Given the description of an element on the screen output the (x, y) to click on. 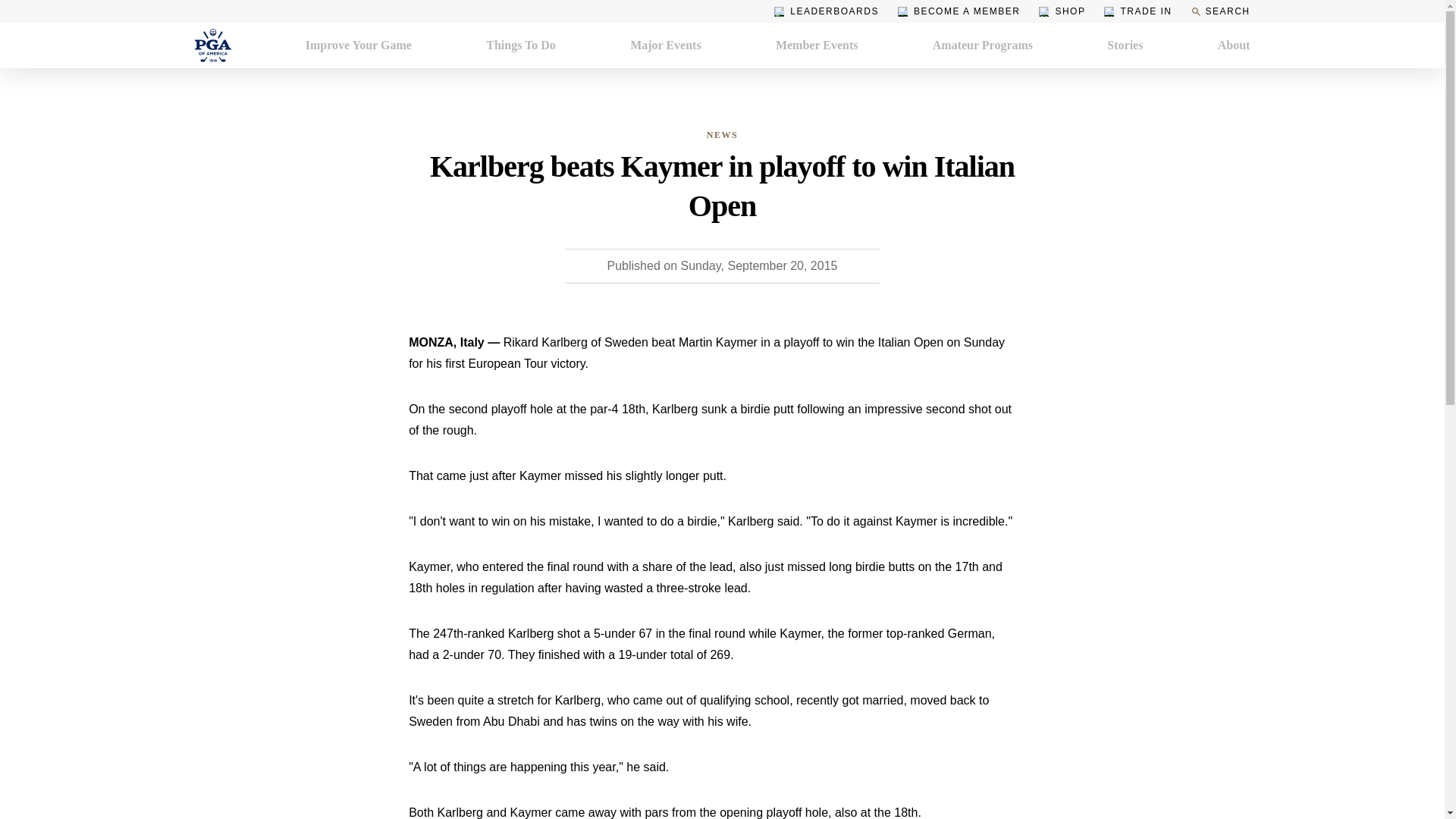
SHOP (1061, 10)
Things To Do (521, 44)
Amateur Programs (982, 44)
TRADE IN (1137, 10)
Member Events (817, 44)
BECOME A MEMBER (959, 10)
LEADERBOARDS (826, 10)
Major Events (665, 44)
Improve Your Game (358, 44)
SEARCH (1220, 11)
